Given the description of an element on the screen output the (x, y) to click on. 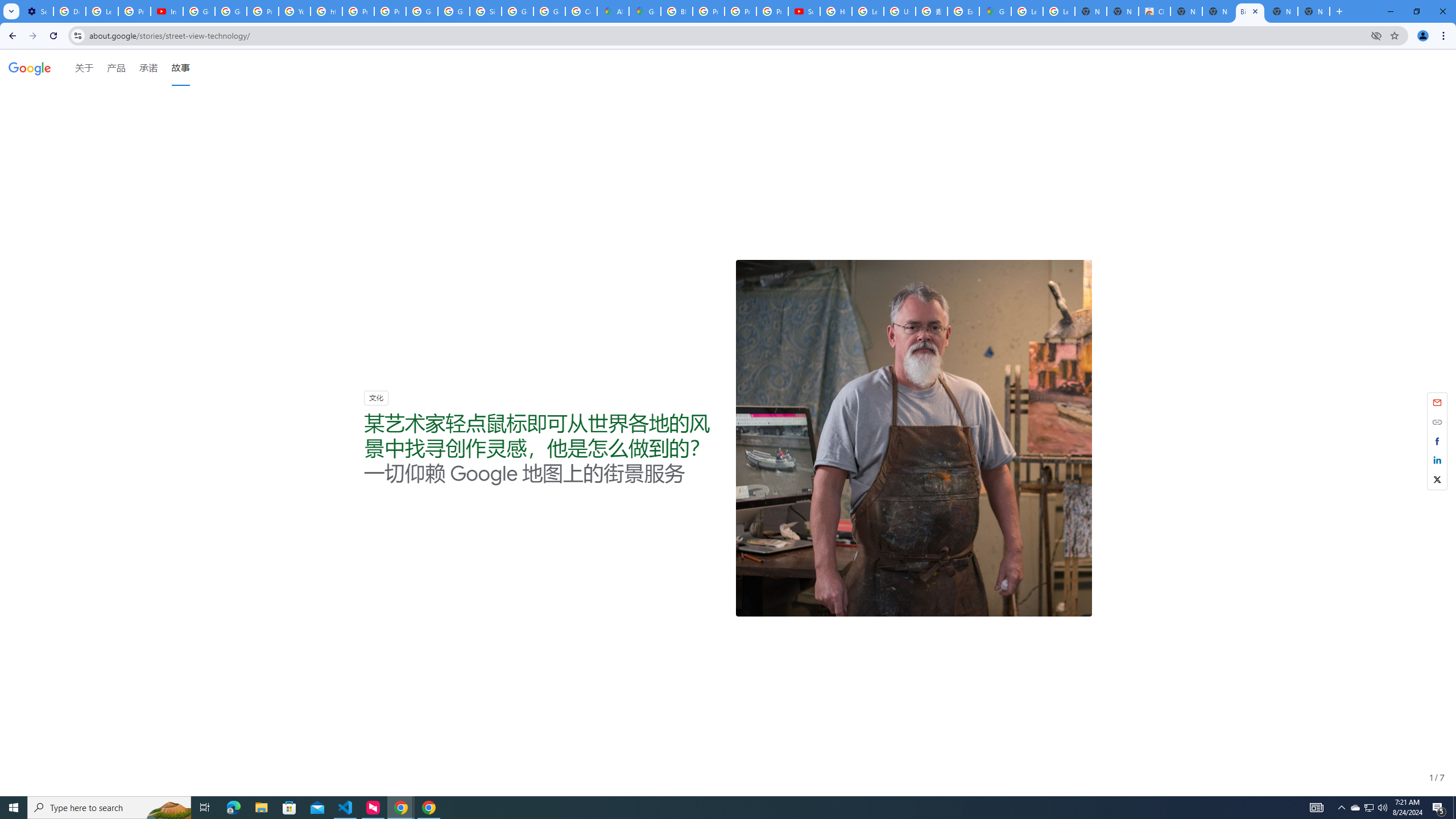
New Tab (1313, 11)
Explore new street-level details - Google Maps Help (963, 11)
Google Account Help (198, 11)
Privacy Help Center - Policies Help (358, 11)
